Given the description of an element on the screen output the (x, y) to click on. 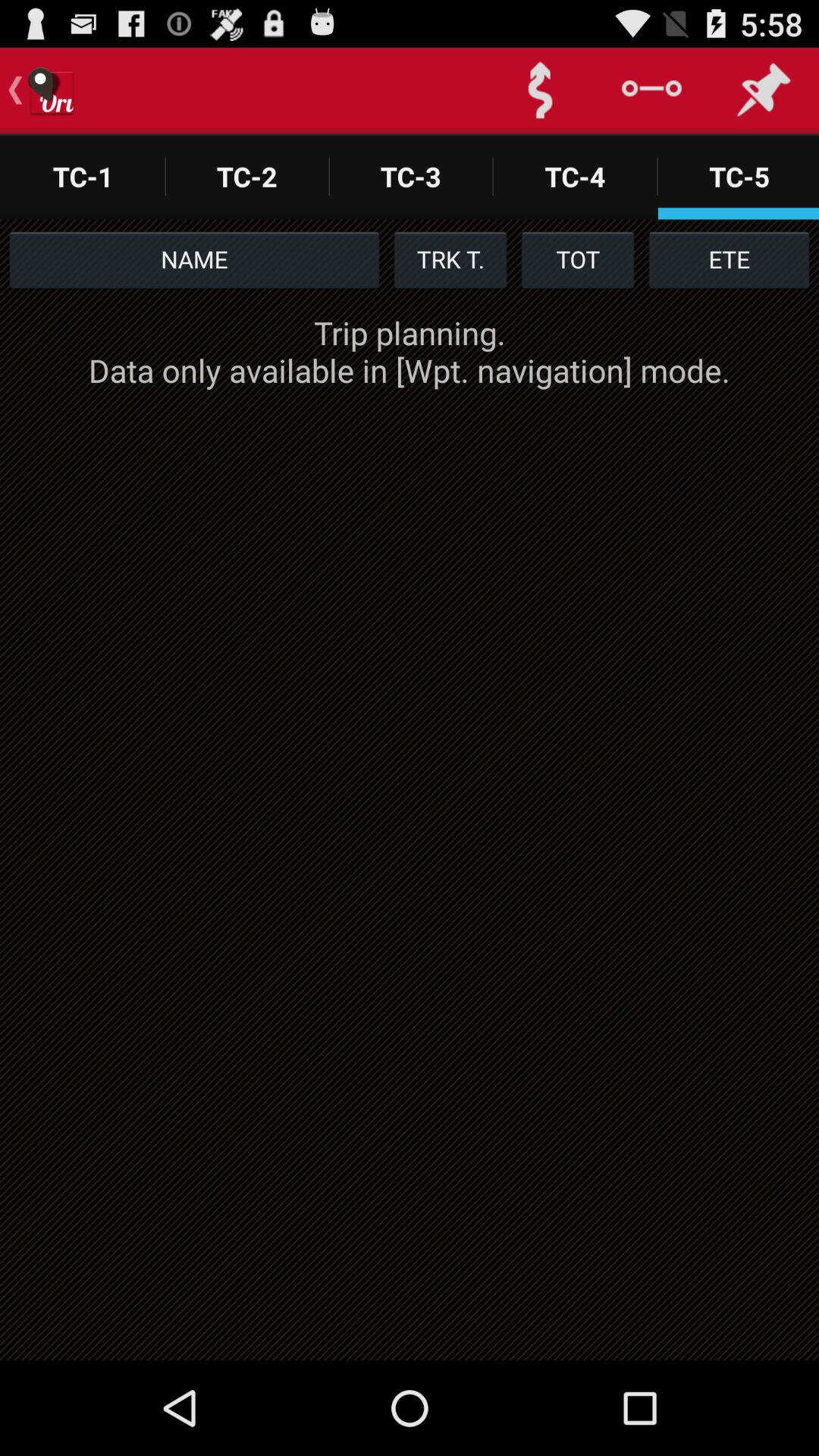
launch button to the left of the tot (450, 259)
